Given the description of an element on the screen output the (x, y) to click on. 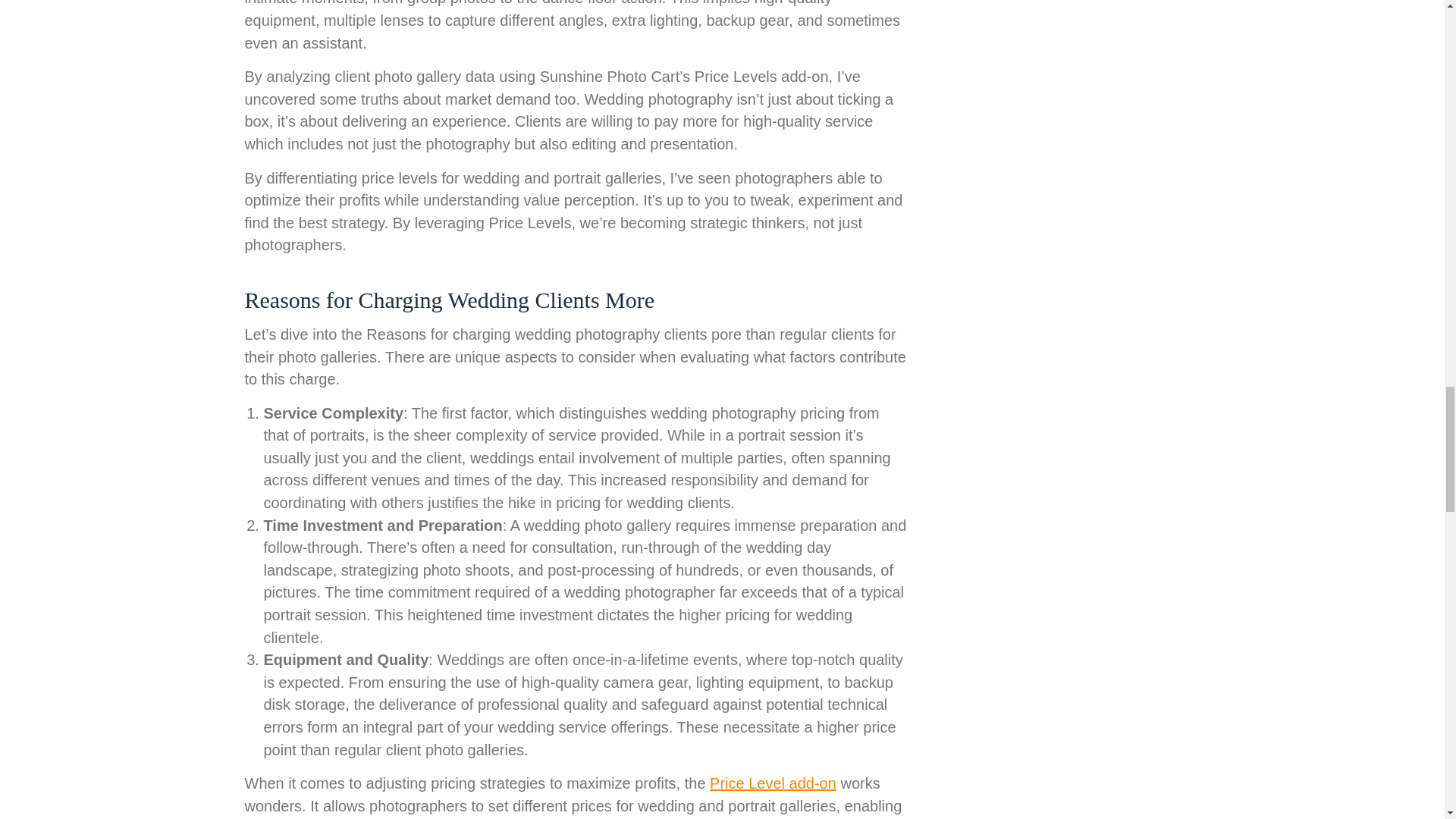
Price Level add-on (772, 782)
